Given the description of an element on the screen output the (x, y) to click on. 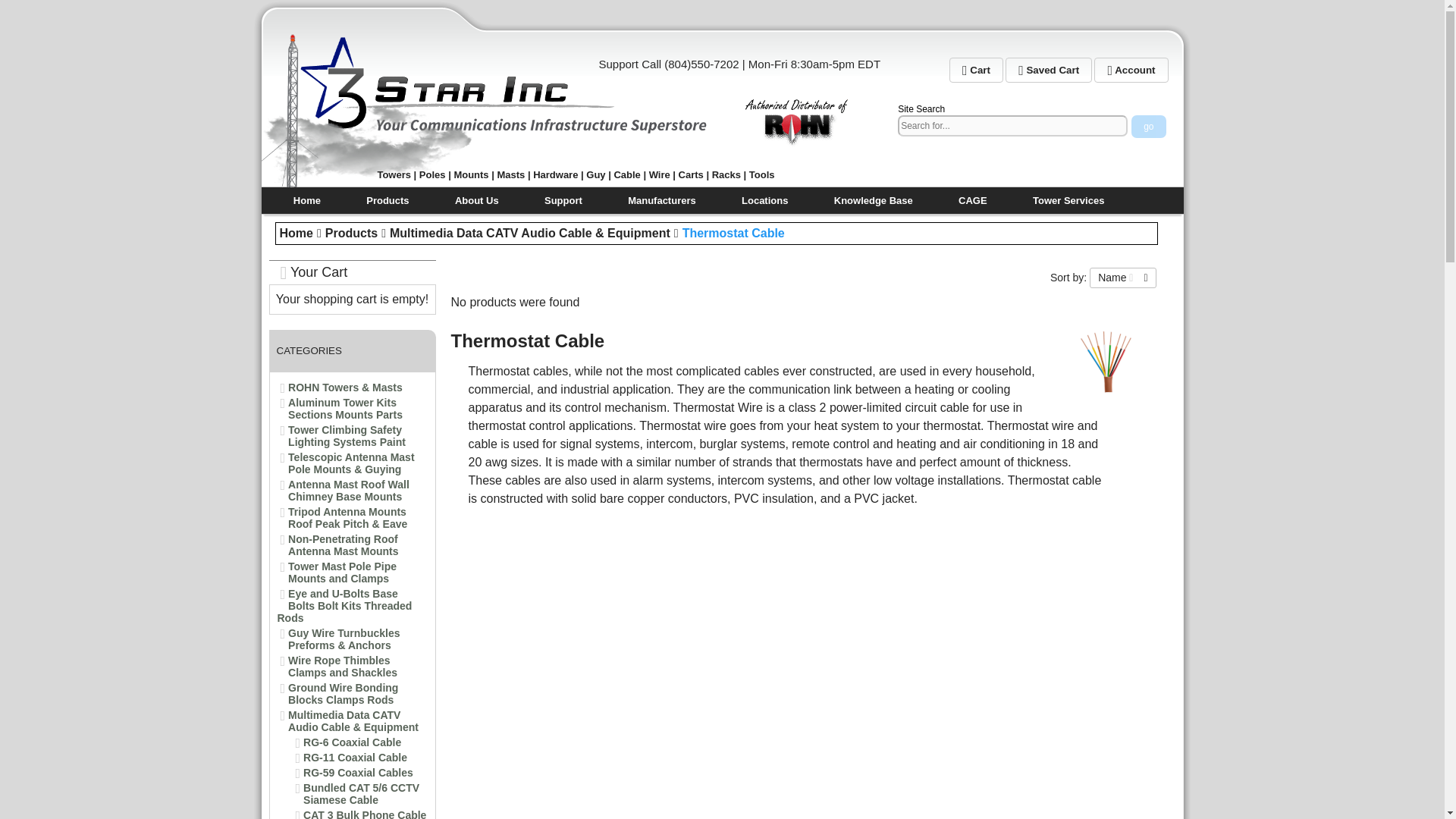
Eye and U-Bolts Base Bolts Bolt Kits Threaded Rods (345, 606)
Home (306, 200)
go (1148, 126)
Locations (765, 200)
Wire Rope Thimbles Clamps and Shackles (342, 666)
Antenna Mast Roof Wall Chimney Base Mounts (348, 490)
Tower Mast Pole Pipe Mounts and Clamps (342, 572)
Tower Climbing Safety Lighting Systems Paint (347, 435)
Manufacturers (662, 200)
Home (296, 232)
